Given the description of an element on the screen output the (x, y) to click on. 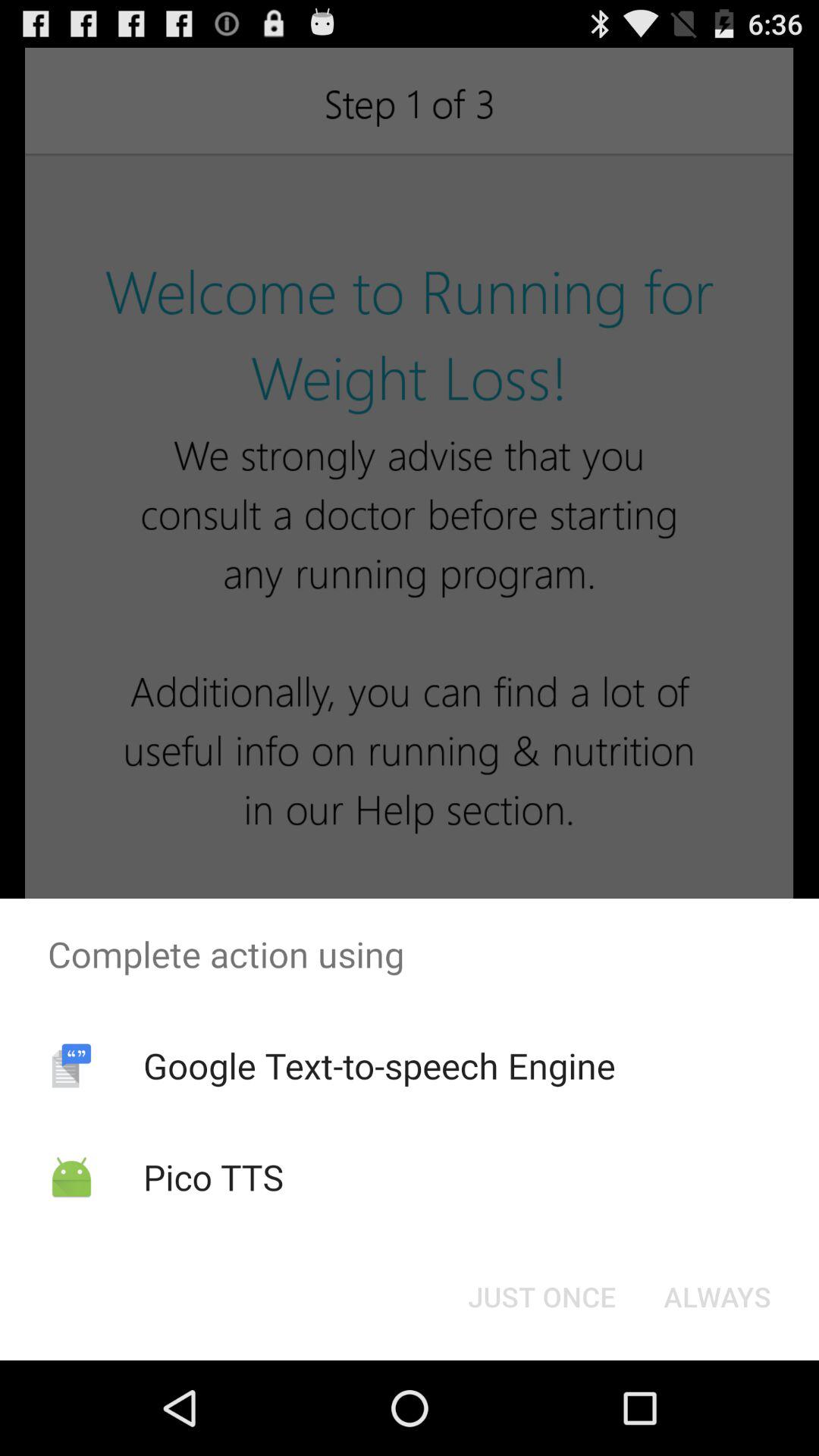
swipe until the pico tts item (213, 1176)
